Given the description of an element on the screen output the (x, y) to click on. 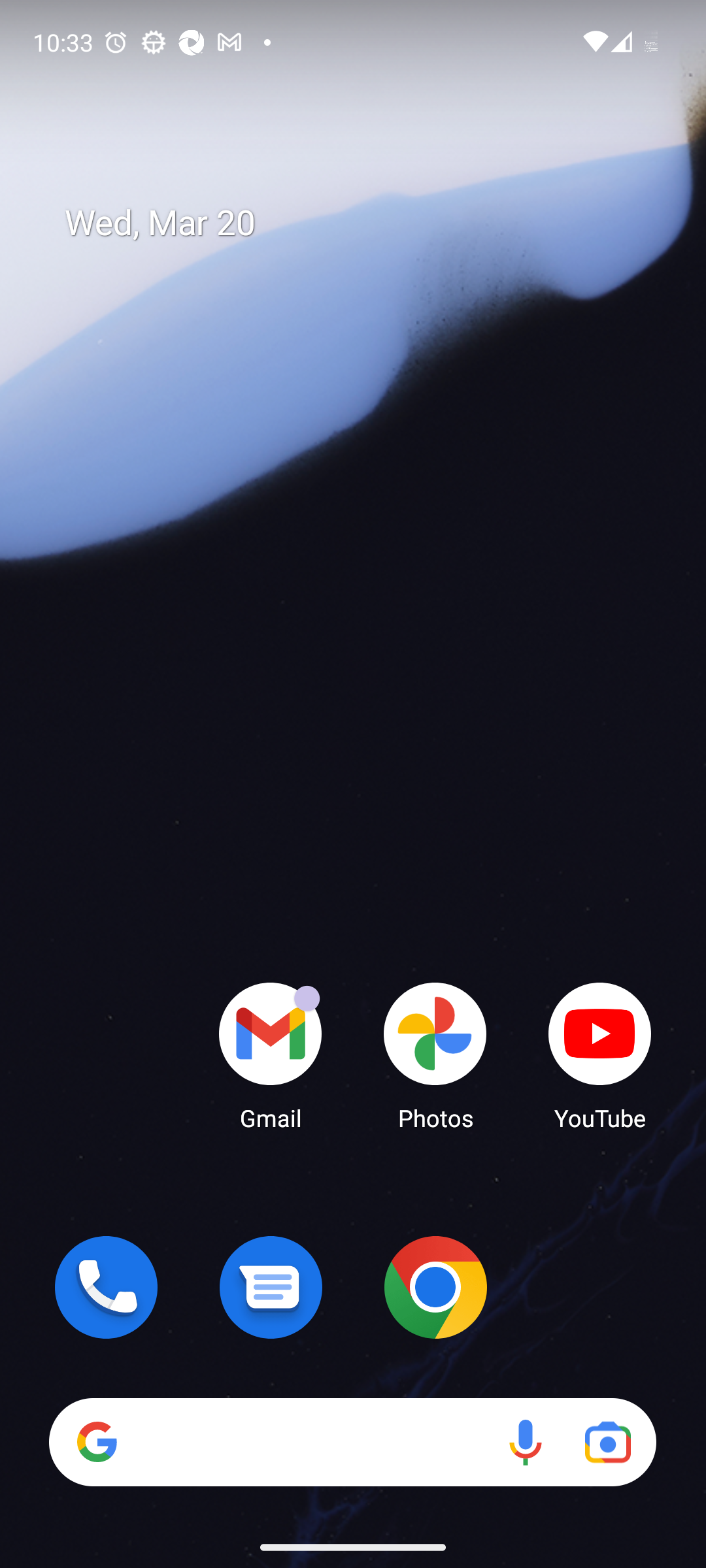
Wed, Mar 20 (366, 223)
Gmail Gmail has 22 notifications (270, 1054)
Photos (435, 1054)
YouTube (599, 1054)
Phone (106, 1287)
Messages (270, 1287)
Chrome (435, 1287)
Voice search (525, 1441)
Google Lens (607, 1441)
